Given the description of an element on the screen output the (x, y) to click on. 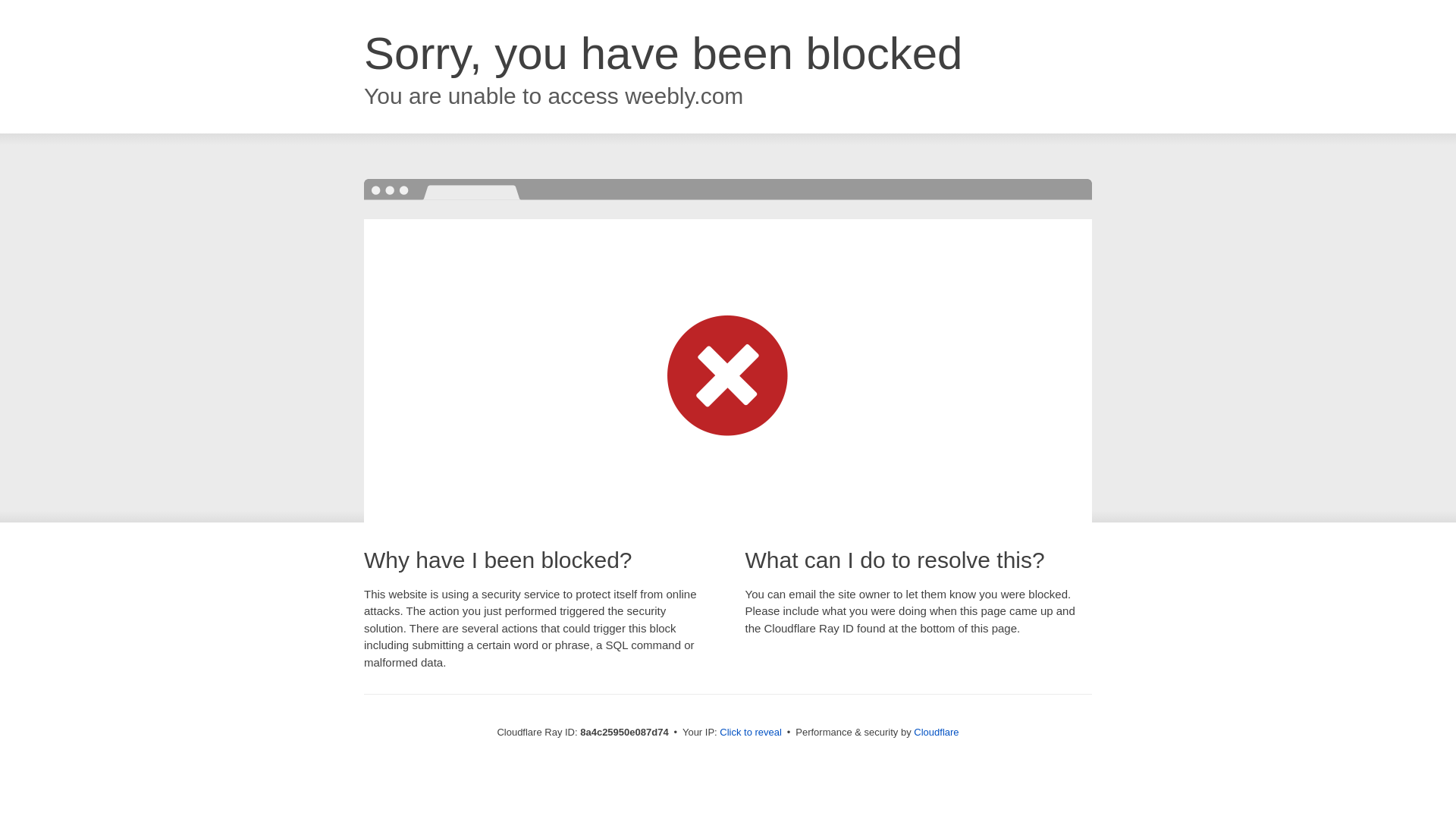
Cloudflare (936, 731)
Click to reveal (750, 732)
